Given the description of an element on the screen output the (x, y) to click on. 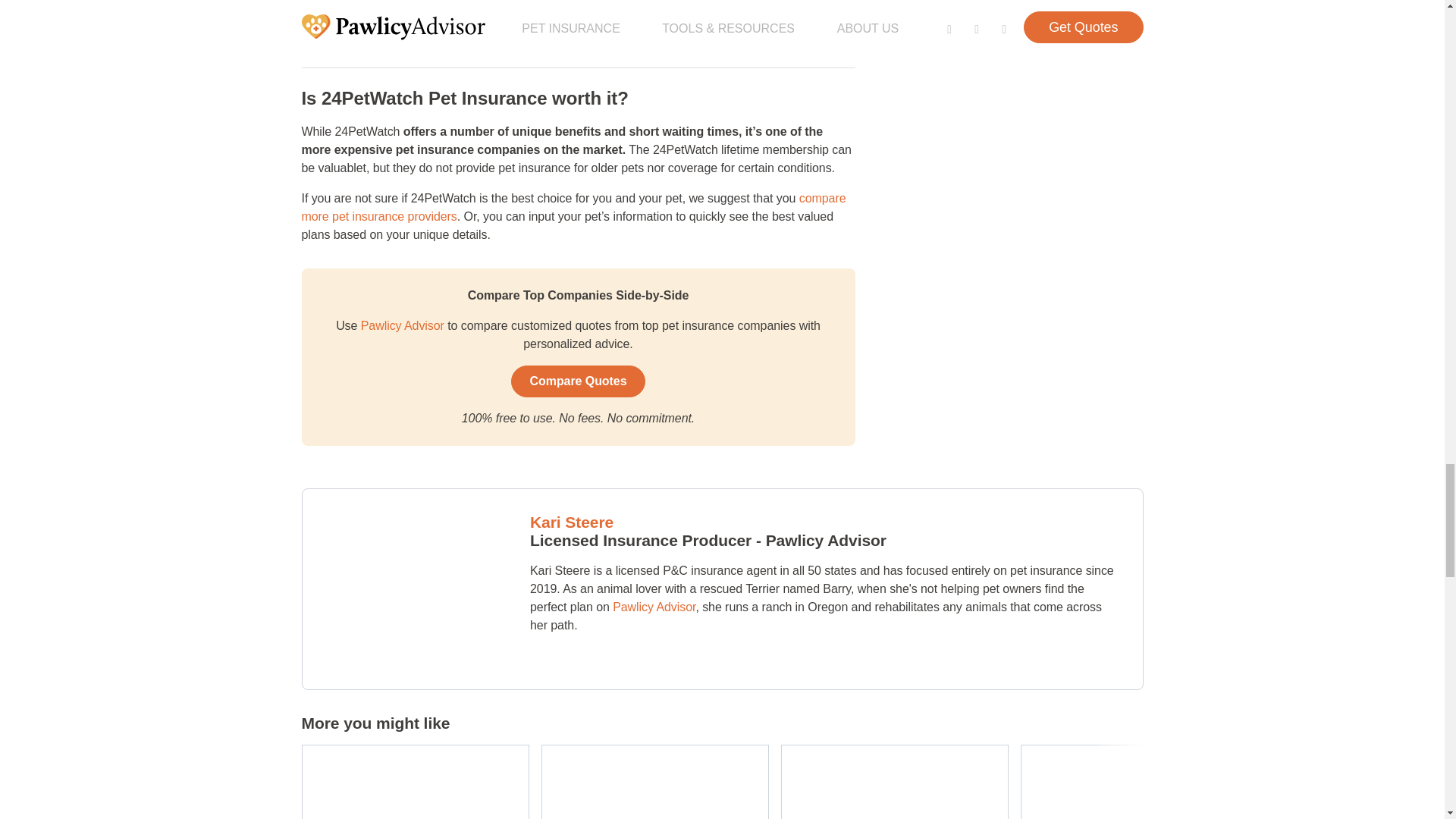
compare more pet insurance providers (573, 206)
Compare Quotes (578, 381)
Pawlicy Advisor (403, 325)
